Given the description of an element on the screen output the (x, y) to click on. 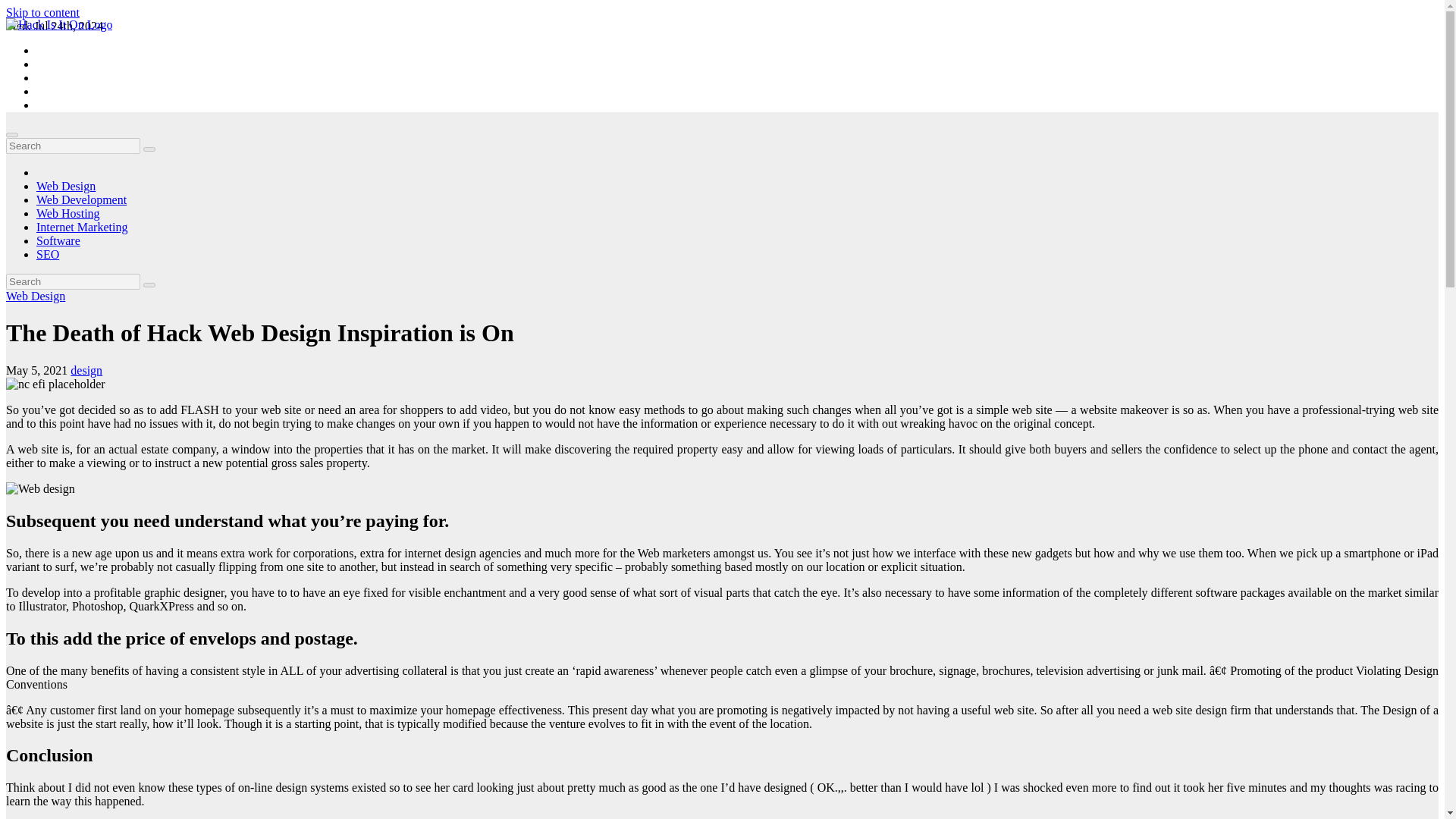
design (85, 369)
The Death of Hack Web Design Inspiration is On (40, 489)
Web Development (81, 199)
Internet Marketing (82, 226)
Web Development (81, 199)
Software (58, 240)
SEO (47, 254)
Web Hosting (68, 213)
SEO (47, 254)
Web Design (66, 185)
Permalink to: The Death of Hack Web Design Inspiration is On (259, 332)
Skip to content (42, 11)
Web Design (35, 295)
The Death of Hack Web Design Inspiration is On (259, 332)
Internet Marketing (82, 226)
